Given the description of an element on the screen output the (x, y) to click on. 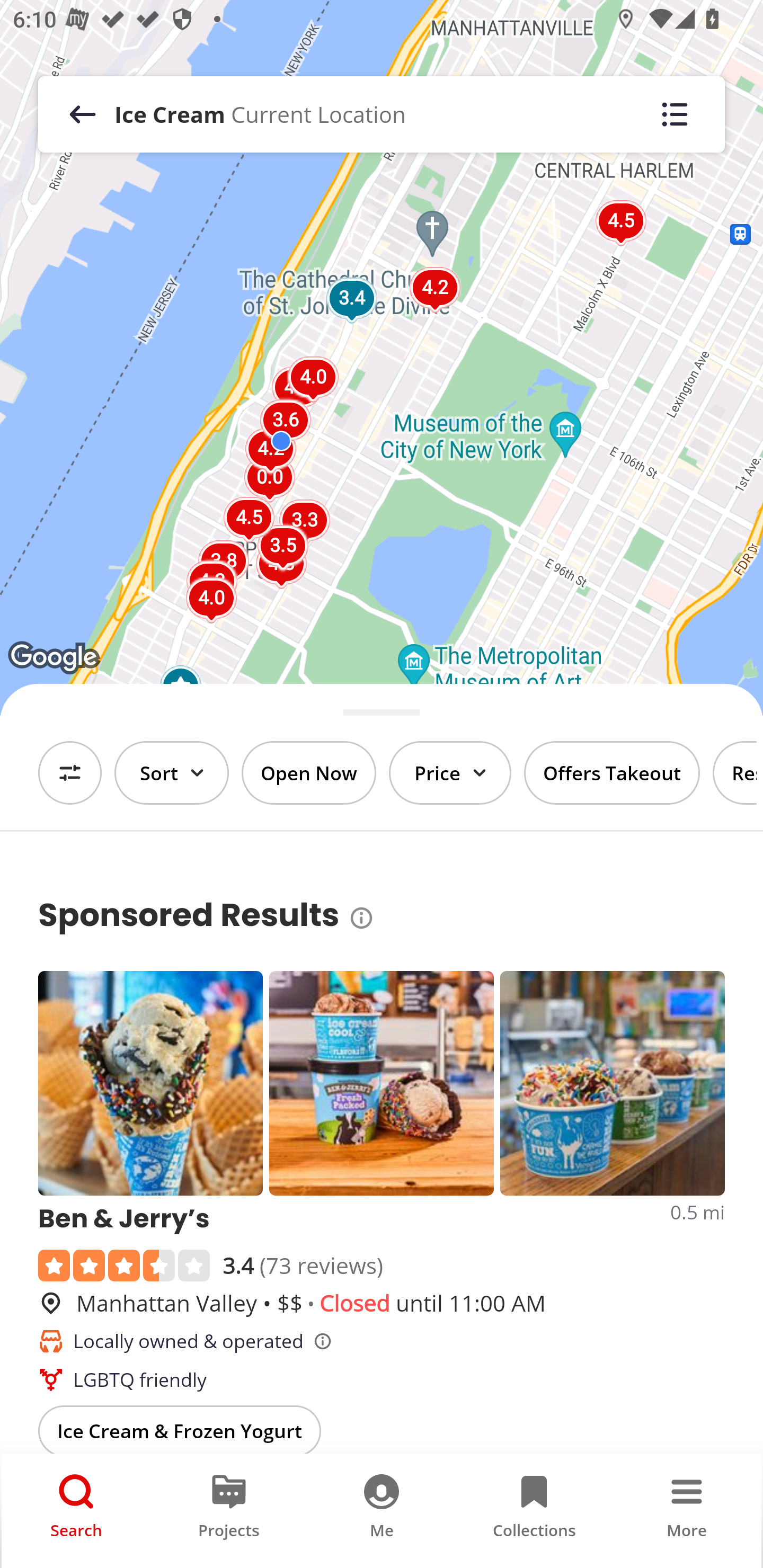
See all filters (69, 772)
